Given the description of an element on the screen output the (x, y) to click on. 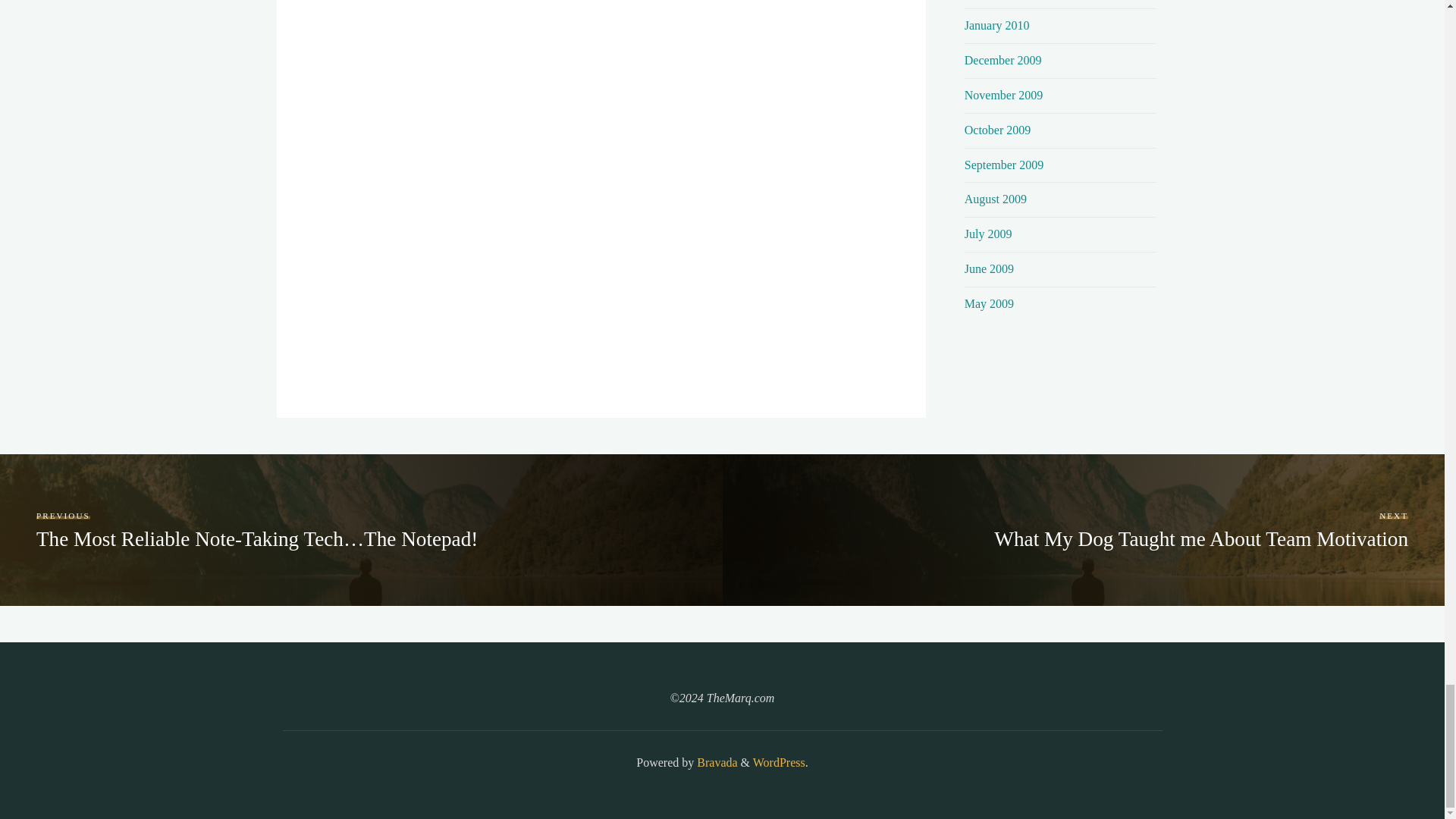
Bravada WordPress Theme by Cryout Creations (715, 762)
Semantic Personal Publishing Platform (778, 762)
